Given the description of an element on the screen output the (x, y) to click on. 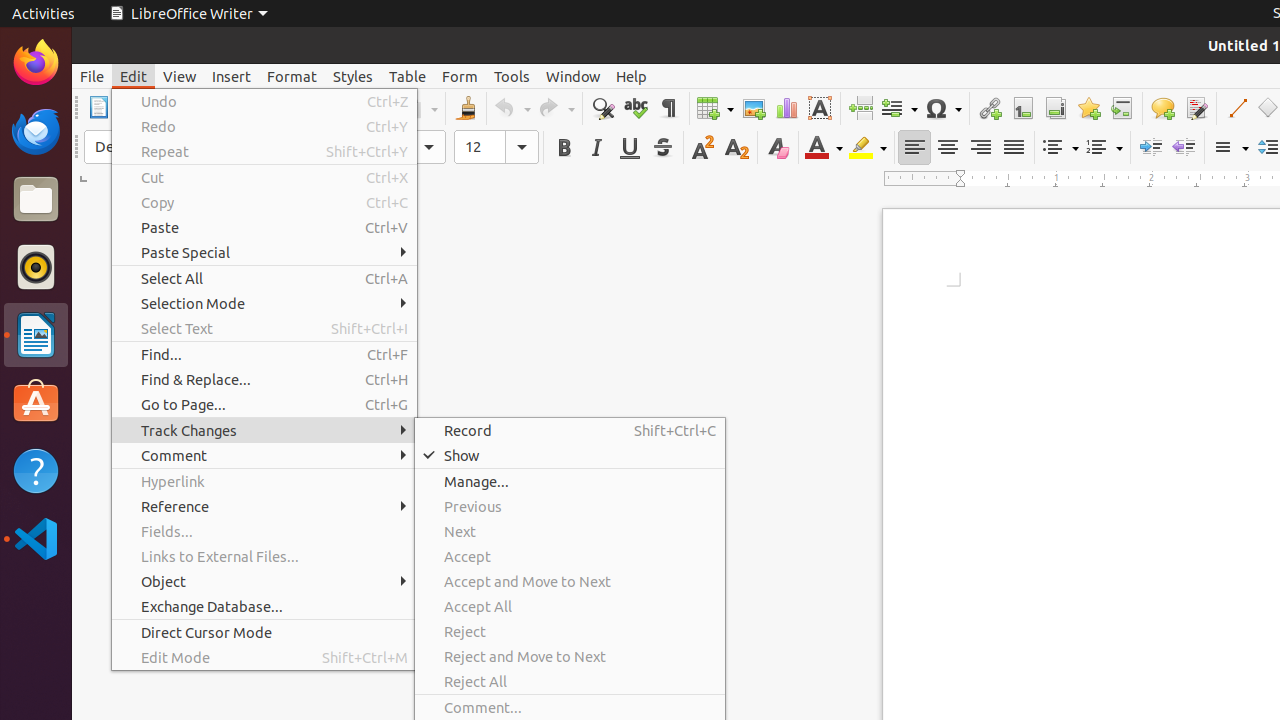
Footnote Element type: push-button (1022, 108)
Bookmark Element type: push-button (1088, 108)
LibreOffice Writer Element type: push-button (36, 334)
Find... Element type: menu-item (264, 354)
Cut Element type: menu-item (264, 177)
